Given the description of an element on the screen output the (x, y) to click on. 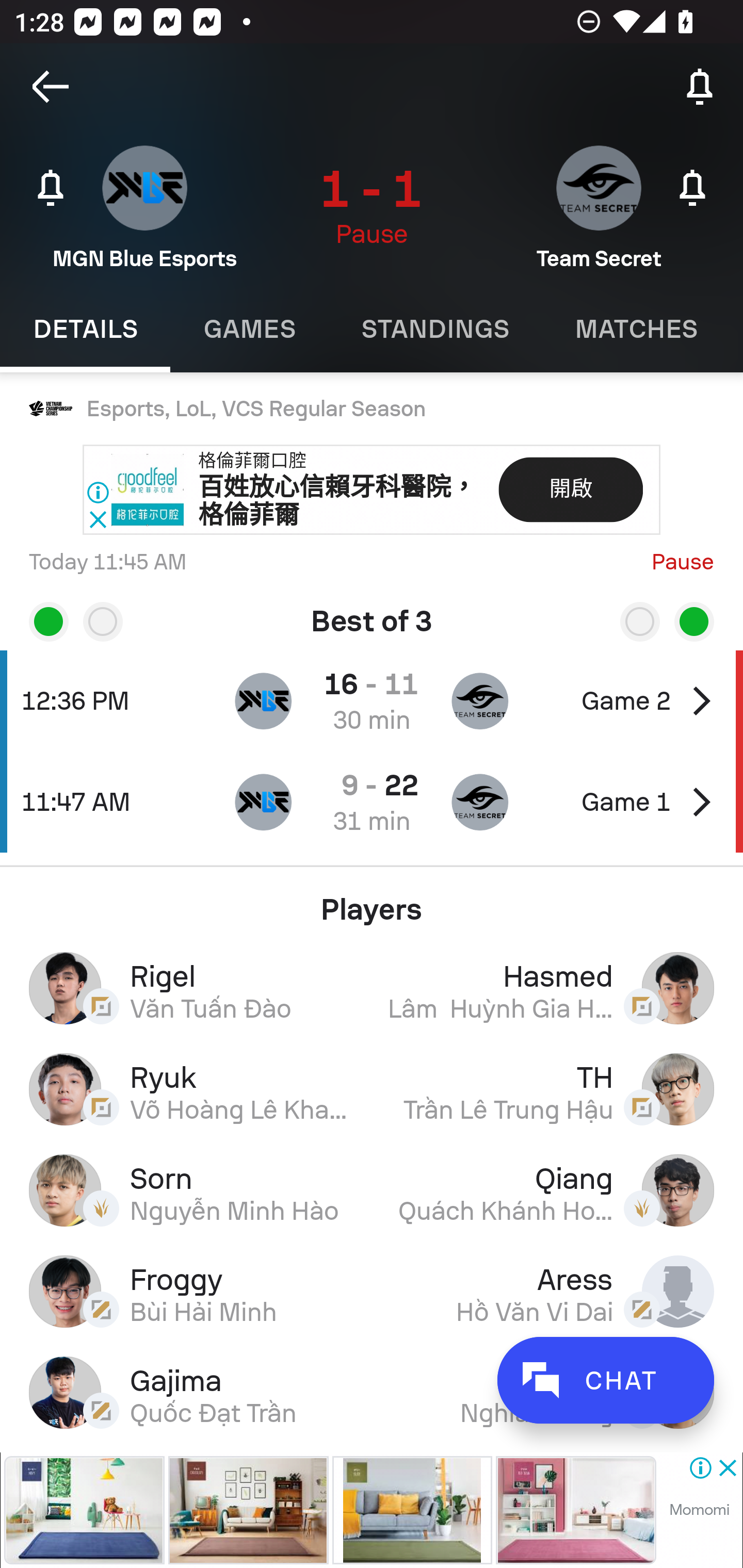
Navigate up (50, 86)
Games GAMES (249, 329)
Standings STANDINGS (434, 329)
Matches MATCHES (635, 329)
Esports, LoL, VCS Regular Season (371, 409)
Best of 3 (371, 614)
12:36 PM 16 - 11 30 min Game 2 (371, 700)
11:47 AM 9 - 22 31 min Game 1 (371, 801)
Players (371, 902)
Rigel Hasmed Văn Tuấn Đào Lâm  Huỳnh Gia Huy (371, 987)
Ryuk TH Võ Hoàng Lê Khang Trần Lê Trung Hậu (371, 1088)
Sorn Qiang Nguyễn Minh Hào Quách Khánh Hoàng (371, 1189)
Froggy Aress Bùi Hải Minh Hồ Văn Vi Dai (371, 1291)
CHAT (605, 1380)
